Given the description of an element on the screen output the (x, y) to click on. 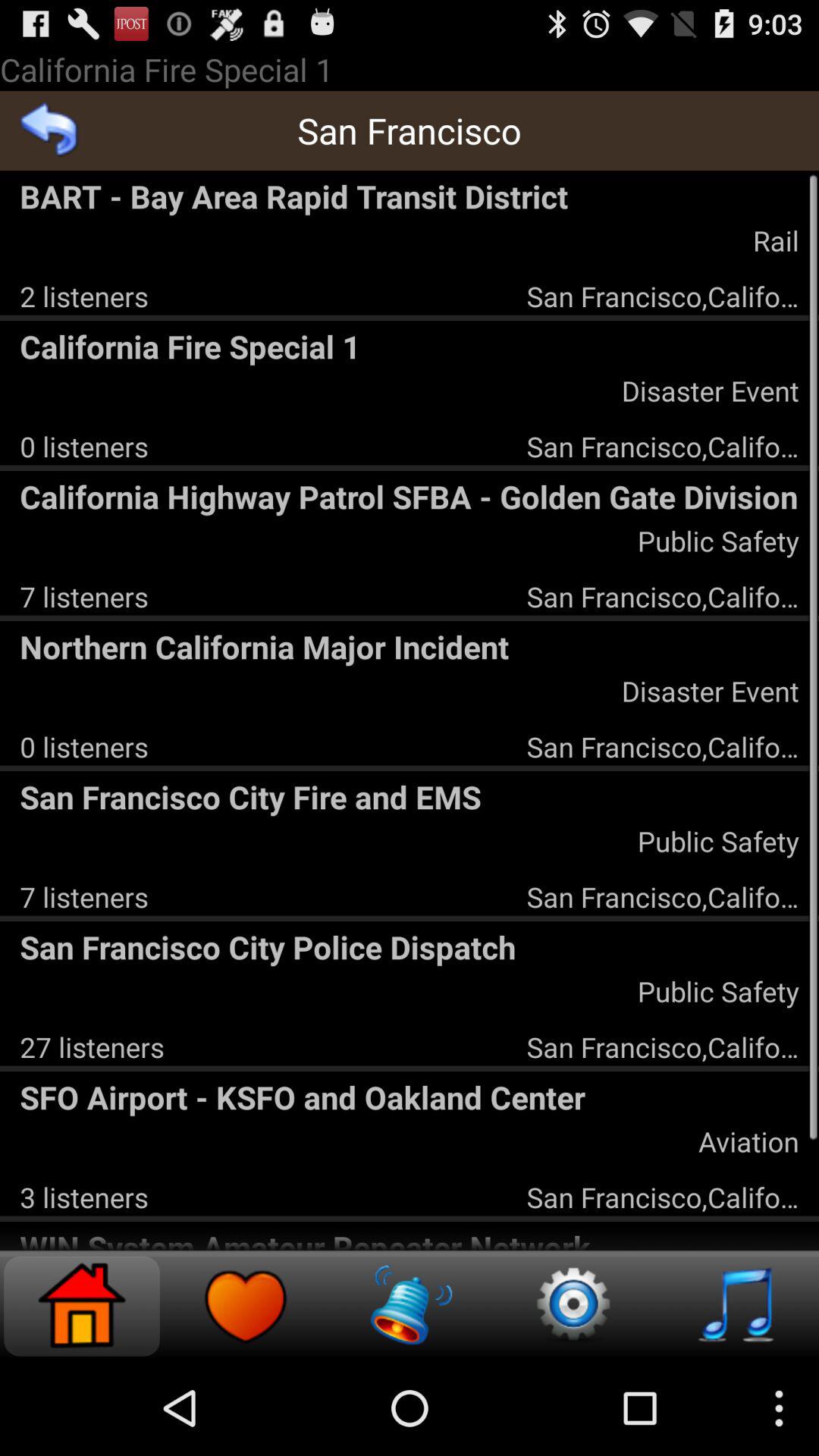
click icon below the bart bay area icon (776, 240)
